Given the description of an element on the screen output the (x, y) to click on. 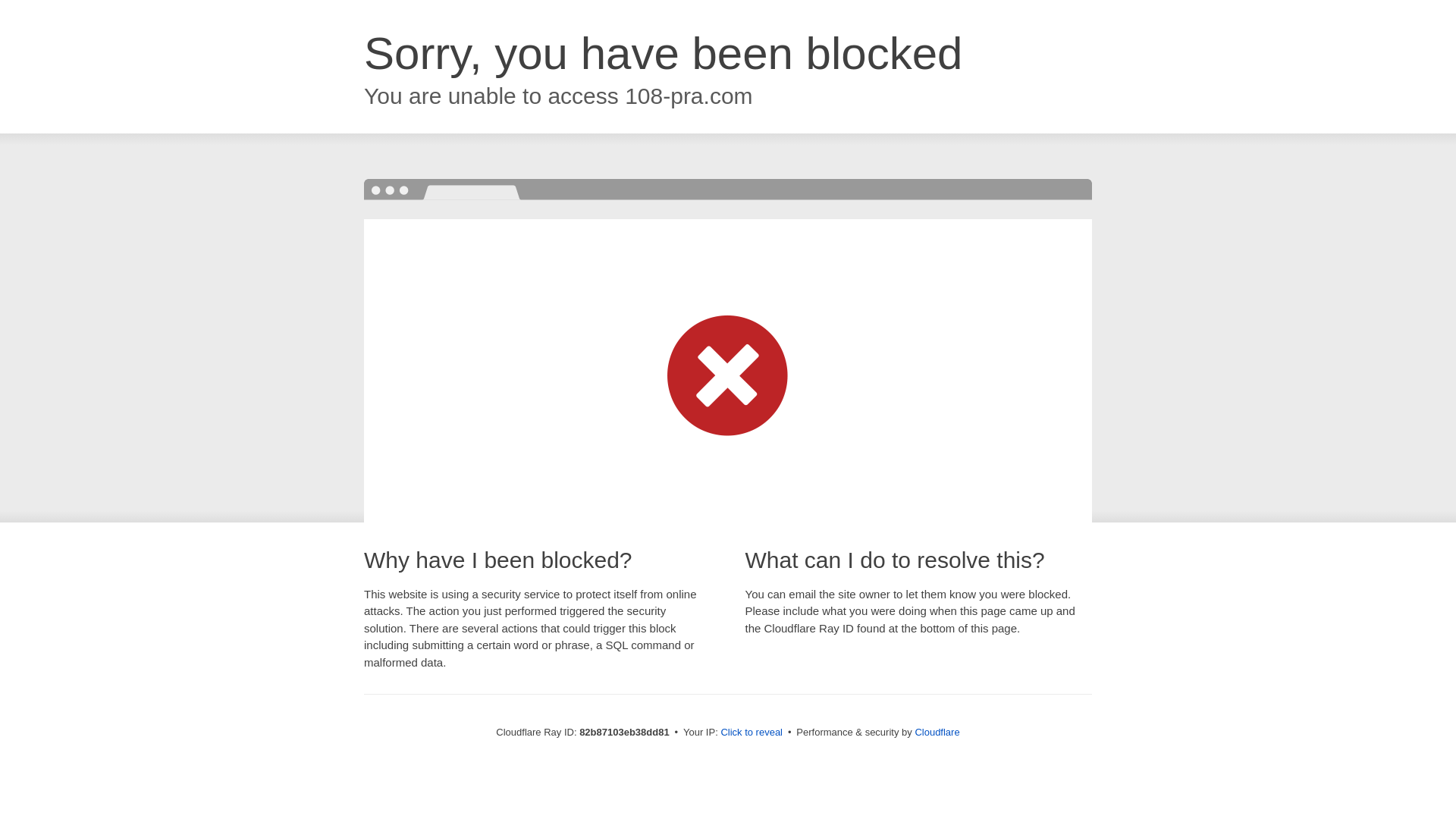
Click to reveal Element type: text (751, 732)
Cloudflare Element type: text (936, 731)
